Given the description of an element on the screen output the (x, y) to click on. 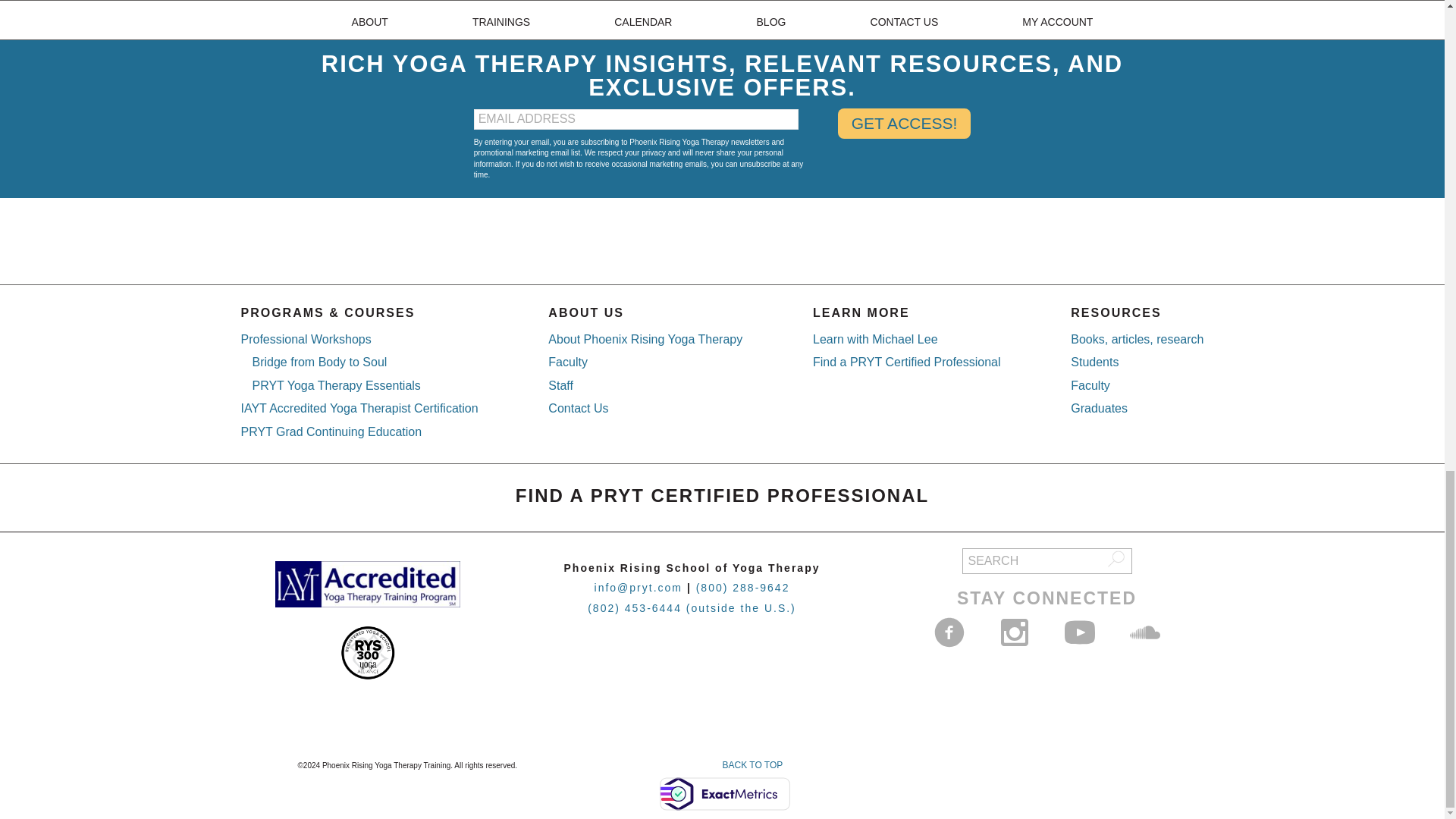
Get Access! (904, 123)
Faculty (568, 361)
Contact Us (578, 408)
PRYT Yoga Therapy Essentials (335, 385)
instagram (1013, 632)
facebook (948, 632)
soundcloud (1144, 632)
youtube (1079, 632)
Bridge from Body to Soul (319, 361)
Professional Workshops (306, 338)
